Given the description of an element on the screen output the (x, y) to click on. 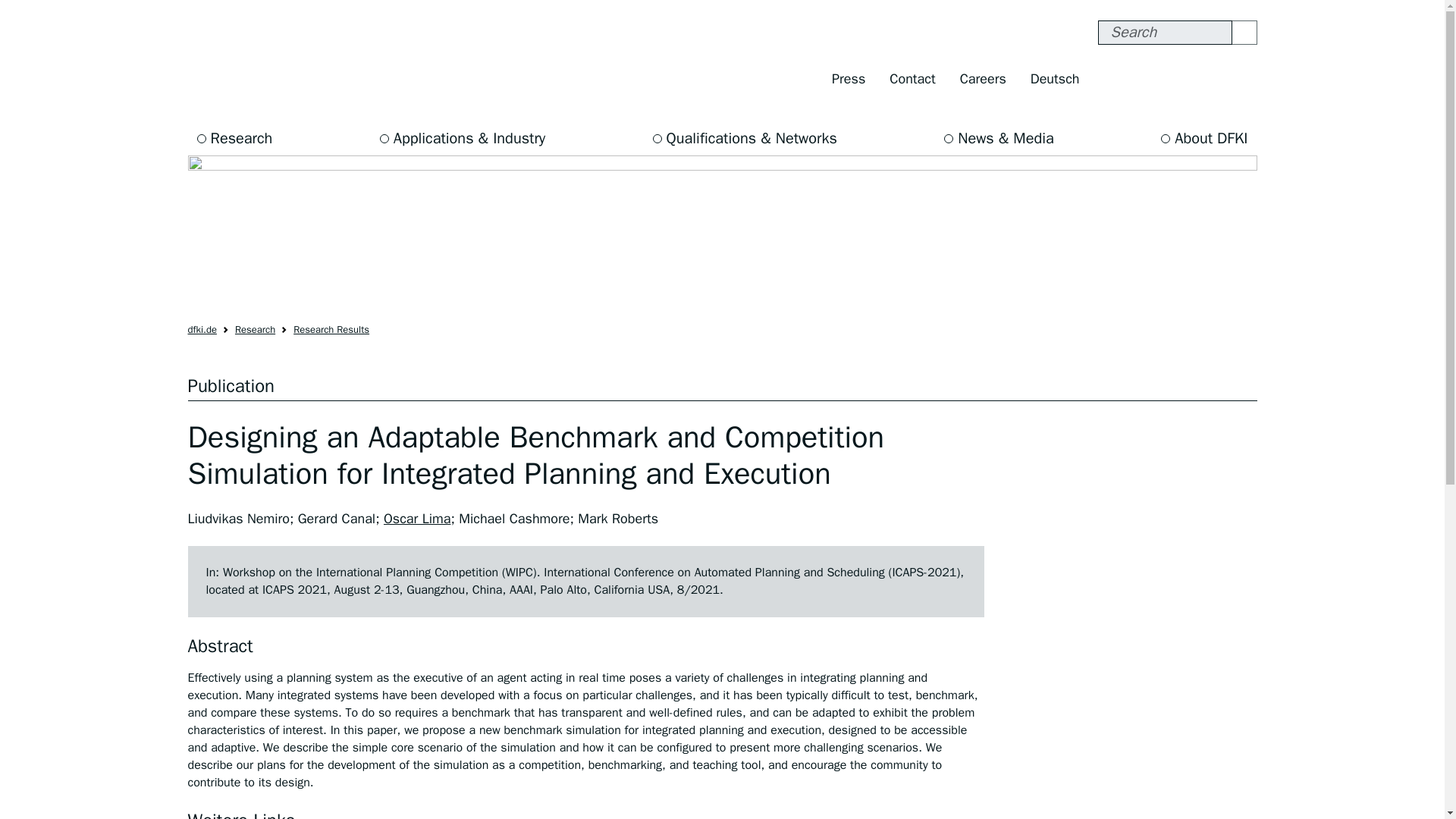
Deutsch (1054, 79)
dfki.de (201, 328)
Research (234, 138)
Follow us on: X (1177, 79)
Follow us on: Youtube (1209, 79)
Follow us on: Instagram (1145, 79)
Translate to Deutsch (1054, 79)
Research (254, 328)
Follow us on: LinkedIn (1240, 79)
Follow us on: X (1177, 79)
